Given the description of an element on the screen output the (x, y) to click on. 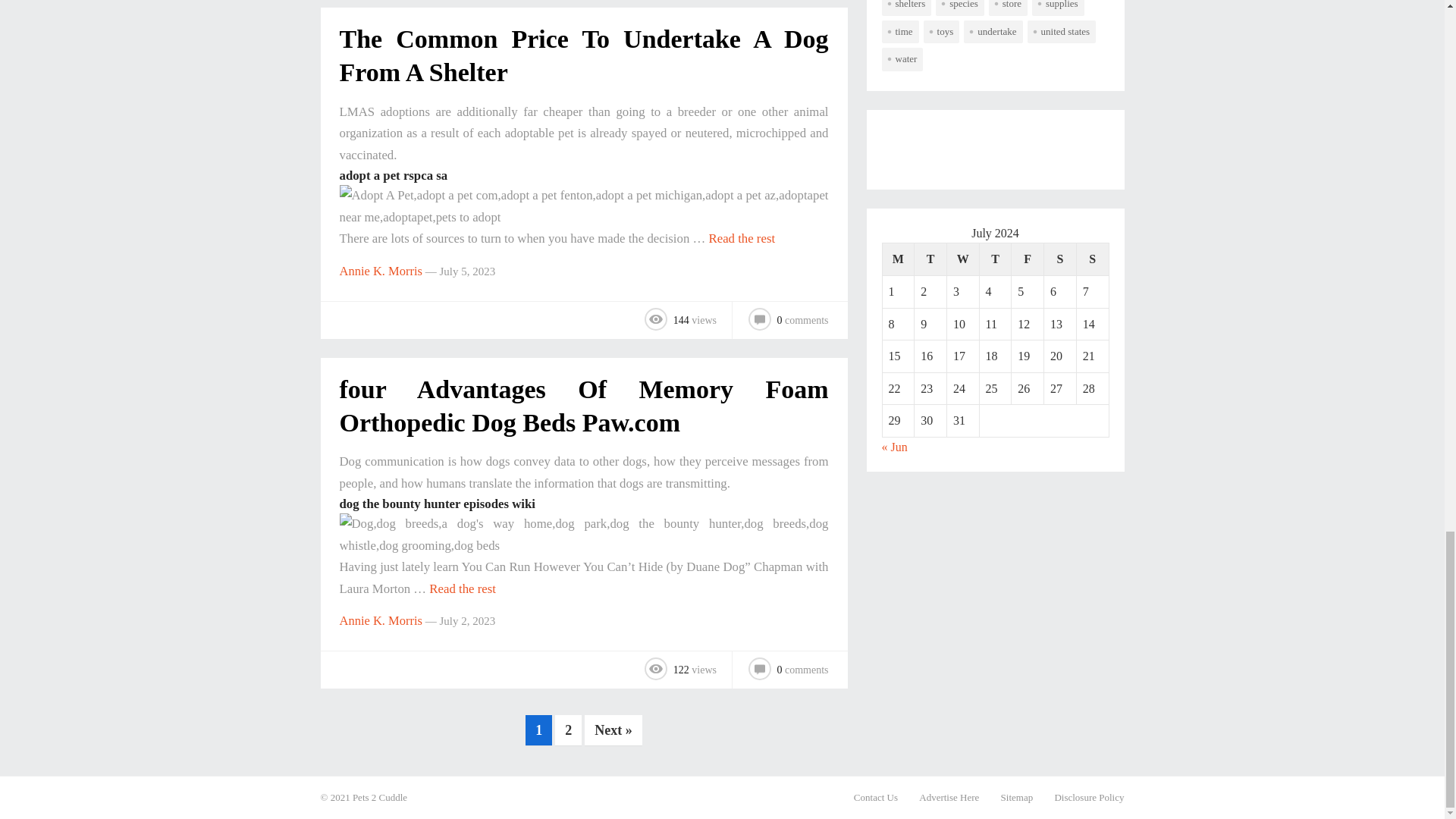
Thursday (994, 259)
Monday (898, 259)
Tuesday (930, 259)
Sunday (1091, 259)
Wednesday (962, 259)
Posts by Annie K. Morris (381, 270)
Saturday (1060, 259)
Posts by Annie K. Morris (381, 620)
Friday (1027, 259)
